Given the description of an element on the screen output the (x, y) to click on. 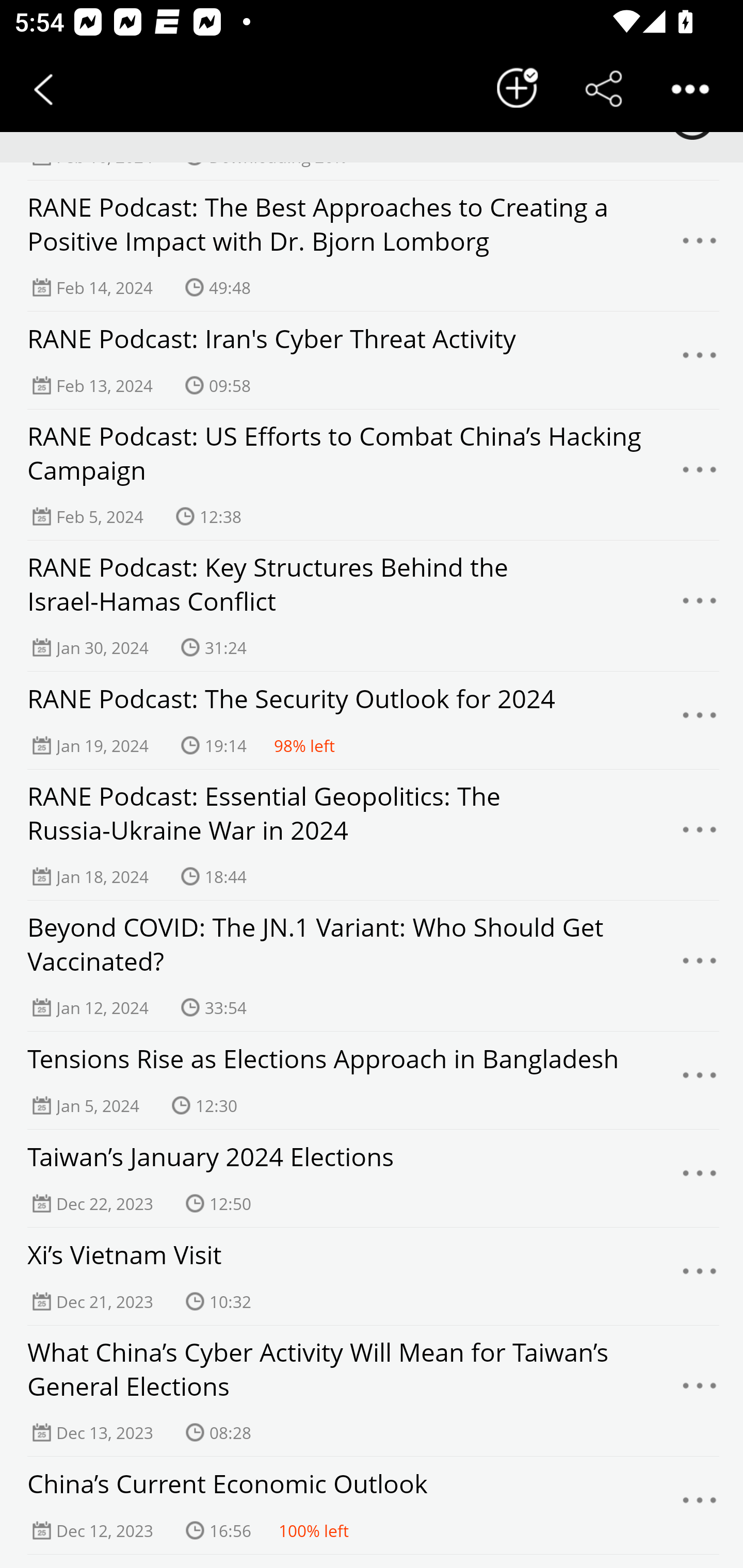
Back (43, 88)
Menu (699, 246)
Menu (699, 360)
Menu (699, 475)
Menu (699, 605)
Menu (699, 720)
Menu (699, 834)
Menu (699, 965)
Menu (699, 1081)
Menu (699, 1178)
Xi’s Vietnam Visit Dec 21, 2023 10:32 Menu (371, 1275)
Menu (699, 1277)
Menu (699, 1391)
Menu (699, 1505)
